Given the description of an element on the screen output the (x, y) to click on. 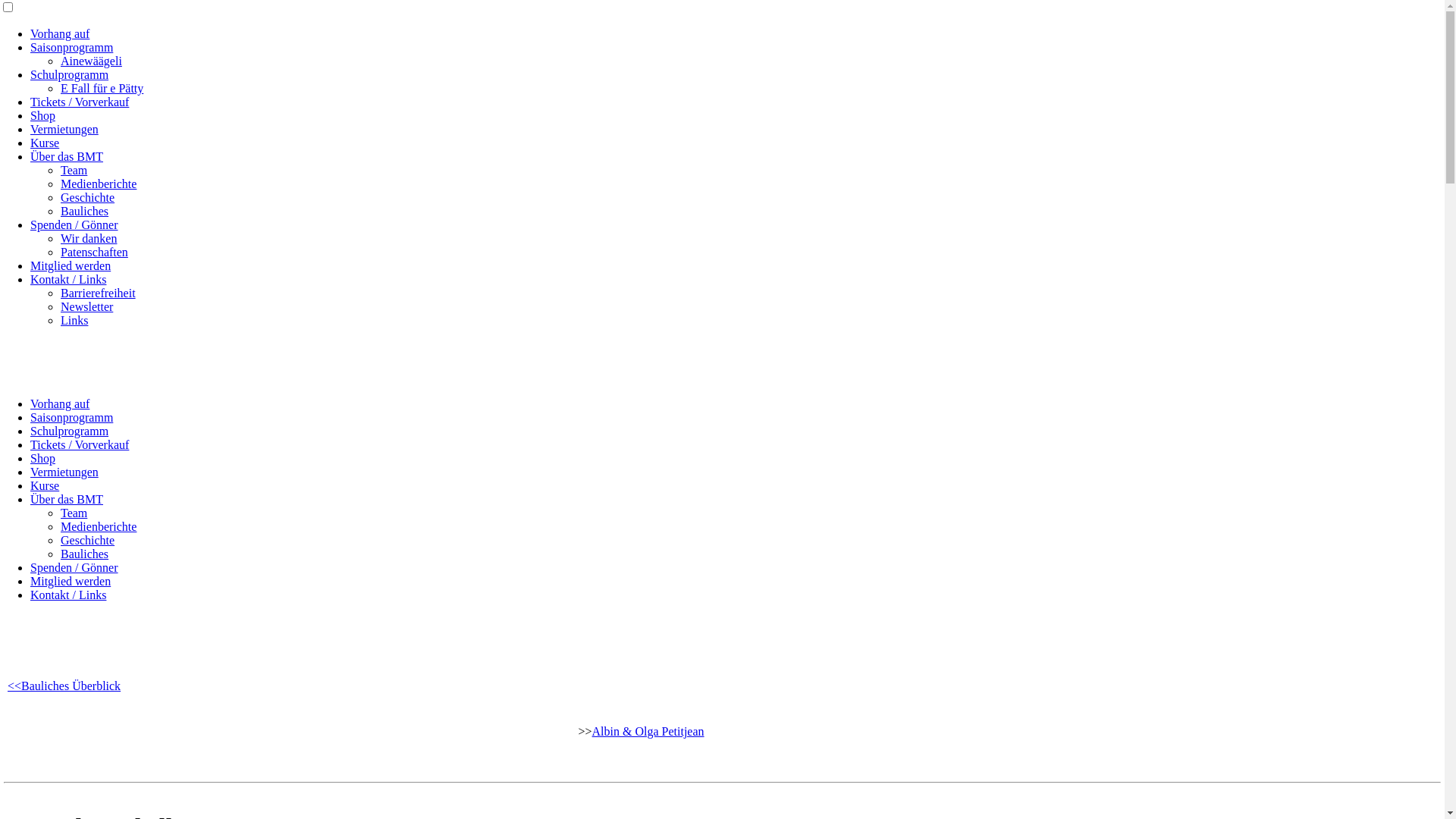
Schulprogramm Element type: text (69, 74)
Tickets / Vorverkauf Element type: text (79, 444)
Bauliches Element type: text (84, 210)
Geschichte Element type: text (87, 539)
Mitglied werden Element type: text (70, 580)
Shop Element type: text (42, 115)
Barrierefreiheit Element type: text (97, 292)
Medienberichte Element type: text (98, 183)
Patenschaften Element type: text (94, 251)
Team Element type: text (73, 512)
Vermietungen Element type: text (64, 128)
Newsletter Element type: text (86, 306)
Team Element type: text (73, 169)
Kontakt / Links Element type: text (68, 279)
Geschichte Element type: text (87, 197)
Vermietungen Element type: text (64, 471)
Tickets / Vorverkauf Element type: text (79, 101)
Medienberichte Element type: text (98, 526)
Mitglied werden Element type: text (70, 265)
Saisonprogramm Element type: text (71, 46)
Schulprogramm Element type: text (69, 430)
Links Element type: text (73, 319)
Kurse Element type: text (44, 485)
Bauliches Element type: text (84, 553)
Kurse Element type: text (44, 142)
Shop Element type: text (42, 457)
Kontakt / Links Element type: text (68, 594)
Vorhang auf Element type: text (59, 403)
Saisonprogramm Element type: text (71, 417)
Wir danken Element type: text (88, 238)
Albin & Olga Petitjean Element type: text (648, 730)
Vorhang auf Element type: text (59, 33)
